Given the description of an element on the screen output the (x, y) to click on. 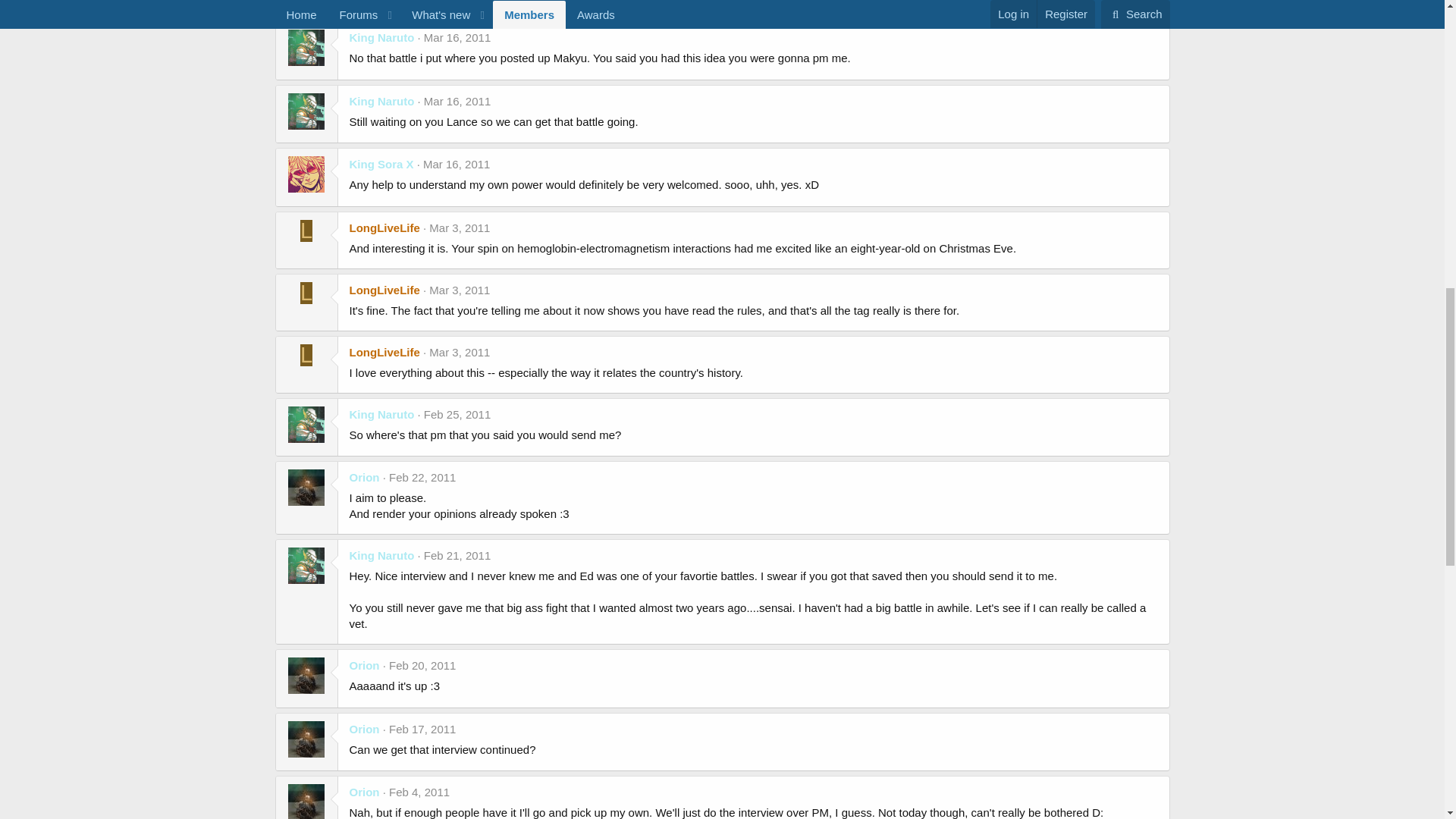
Mar 16, 2011 at 6:47 AM (456, 101)
Mar 3, 2011 at 10:02 PM (459, 227)
Feb 25, 2011 at 9:43 AM (456, 413)
Mar 16, 2011 at 12:27 AM (456, 164)
Mar 3, 2011 at 9:58 PM (459, 289)
Mar 3, 2011 at 9:56 PM (459, 351)
Feb 21, 2011 at 6:00 AM (456, 554)
Feb 17, 2011 at 7:46 AM (421, 728)
Feb 20, 2011 at 9:46 PM (421, 665)
Feb 22, 2011 at 4:22 AM (421, 477)
